Given the description of an element on the screen output the (x, y) to click on. 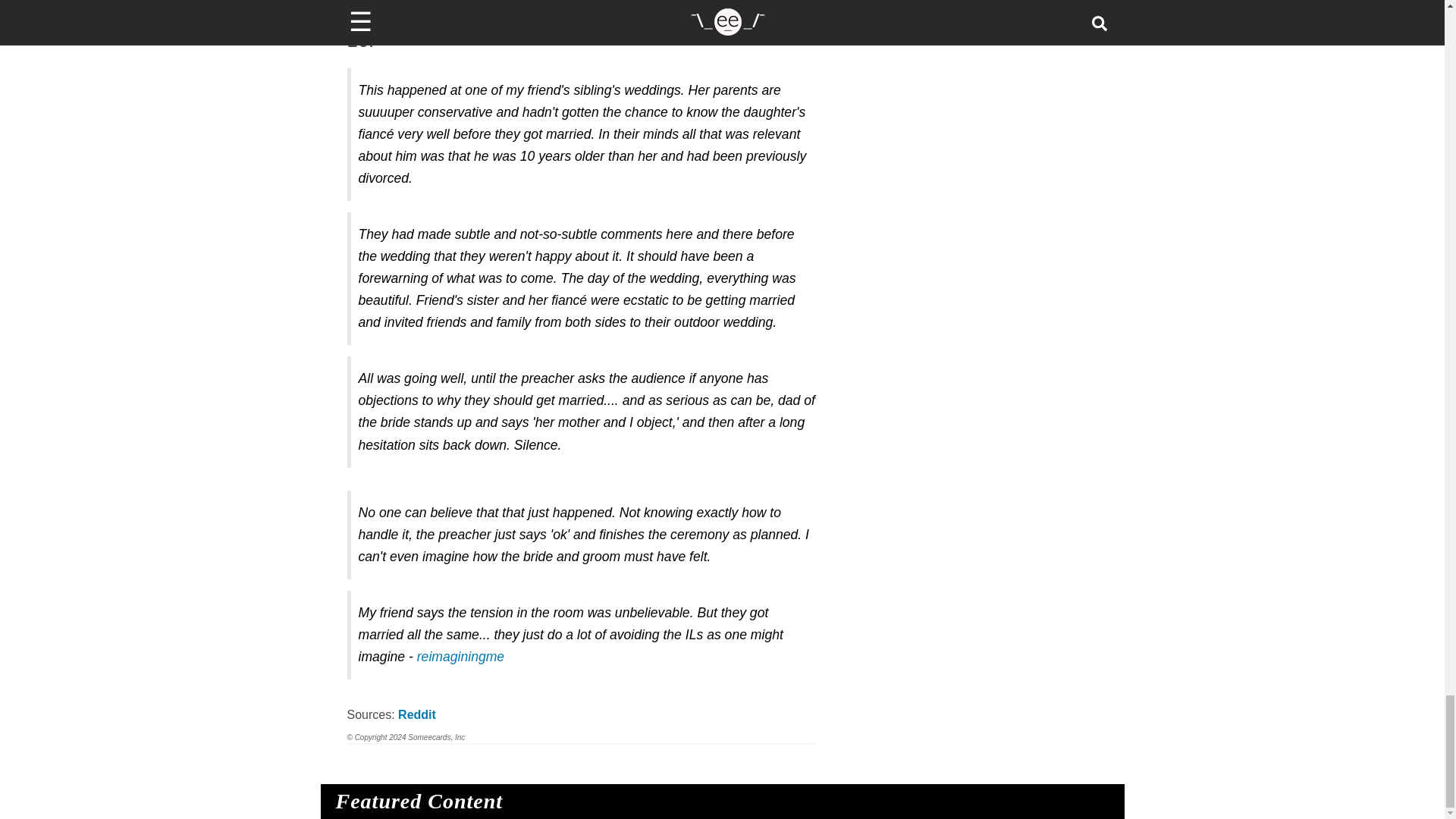
Reddit (416, 714)
reimaginingme (459, 656)
